Given the description of an element on the screen output the (x, y) to click on. 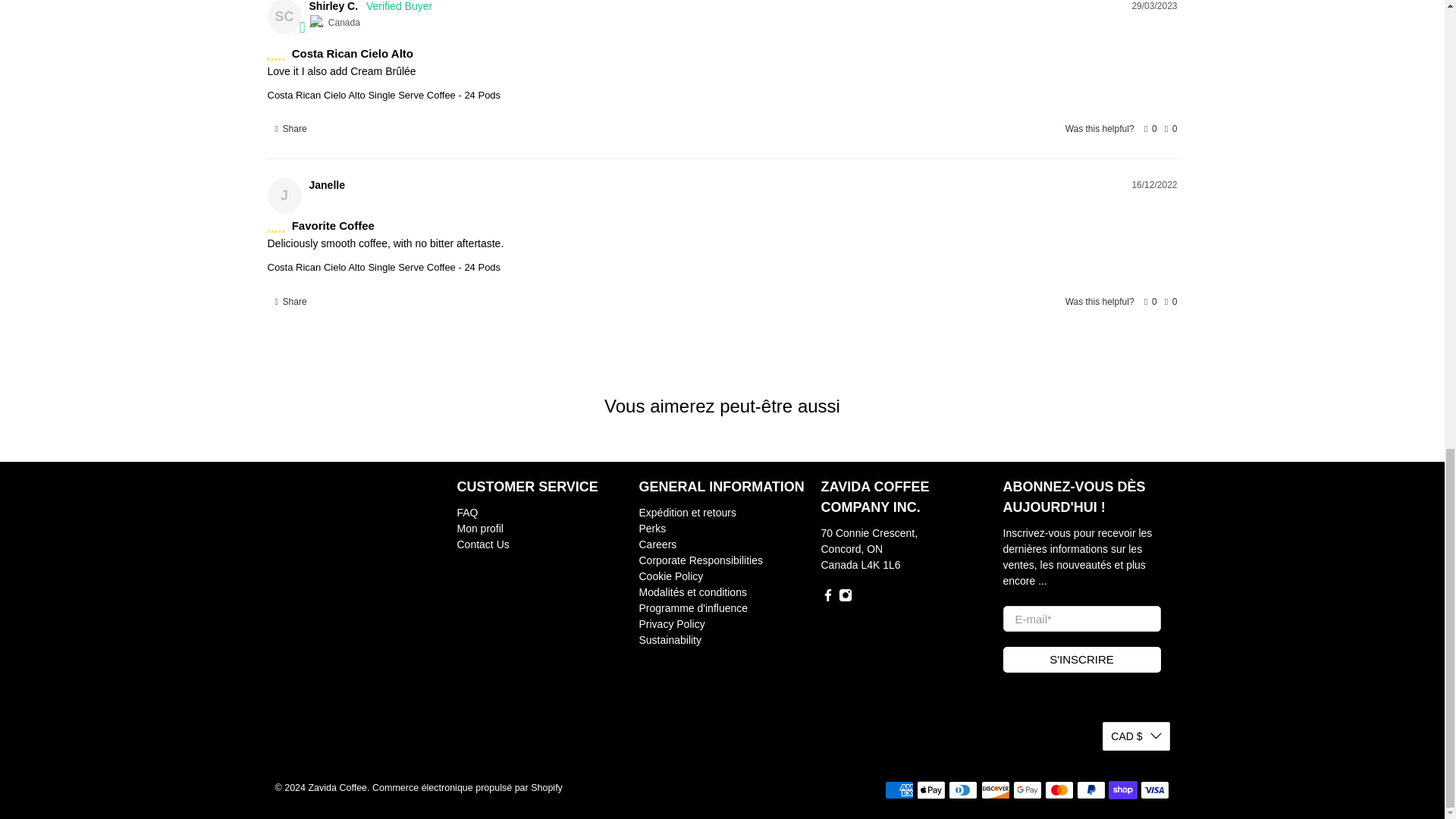
Google Pay (1027, 790)
Apple Pay (930, 790)
Zavida Coffee on Facebook (827, 598)
Discover (995, 790)
Zavida Coffee (341, 550)
PayPal (1091, 790)
American Express (899, 790)
Diners Club (962, 790)
Zavida Coffee on Instagram (844, 598)
Mastercard (1059, 790)
